Given the description of an element on the screen output the (x, y) to click on. 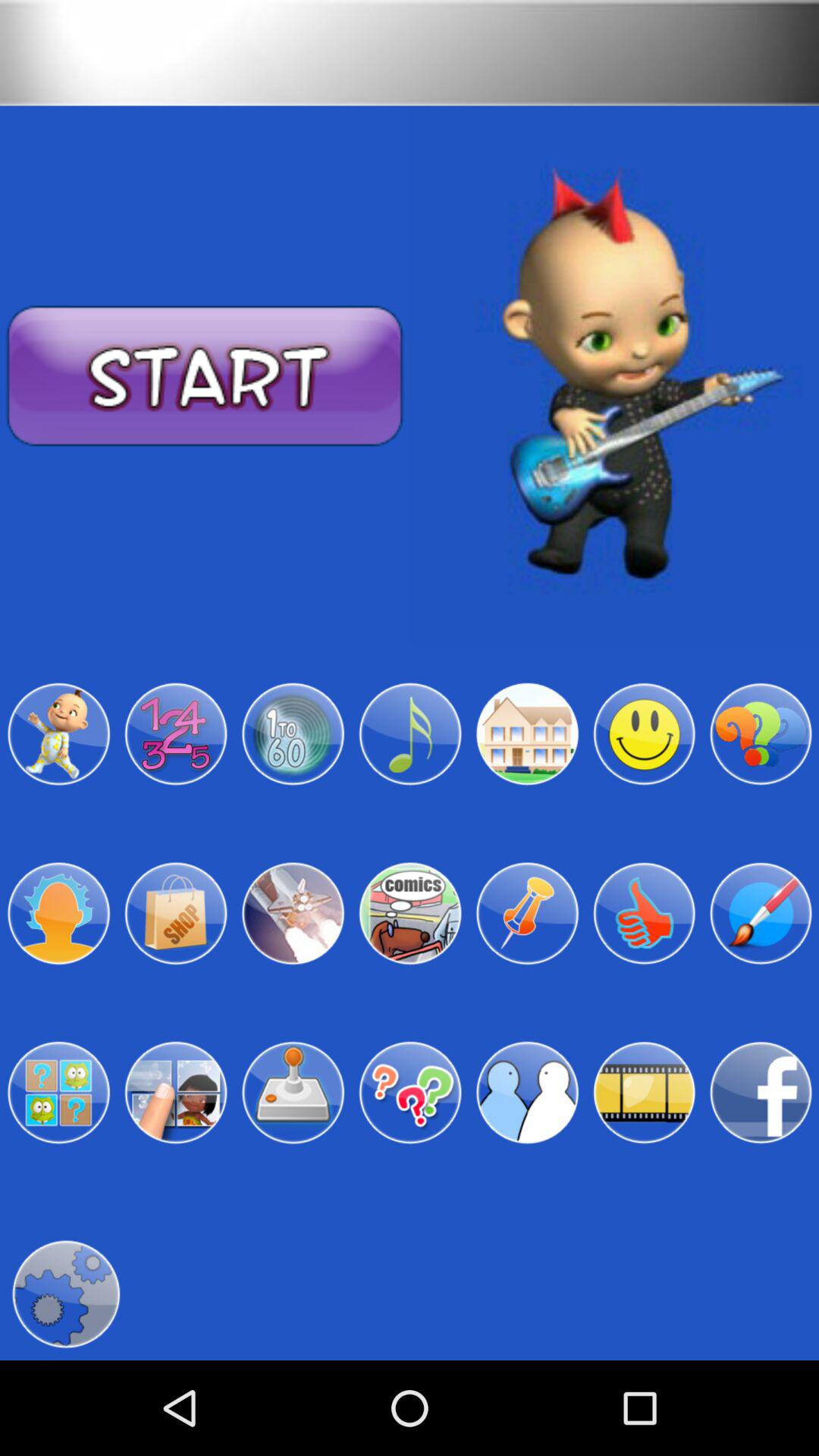
orange box flashing for selecting happy face (643, 734)
